Given the description of an element on the screen output the (x, y) to click on. 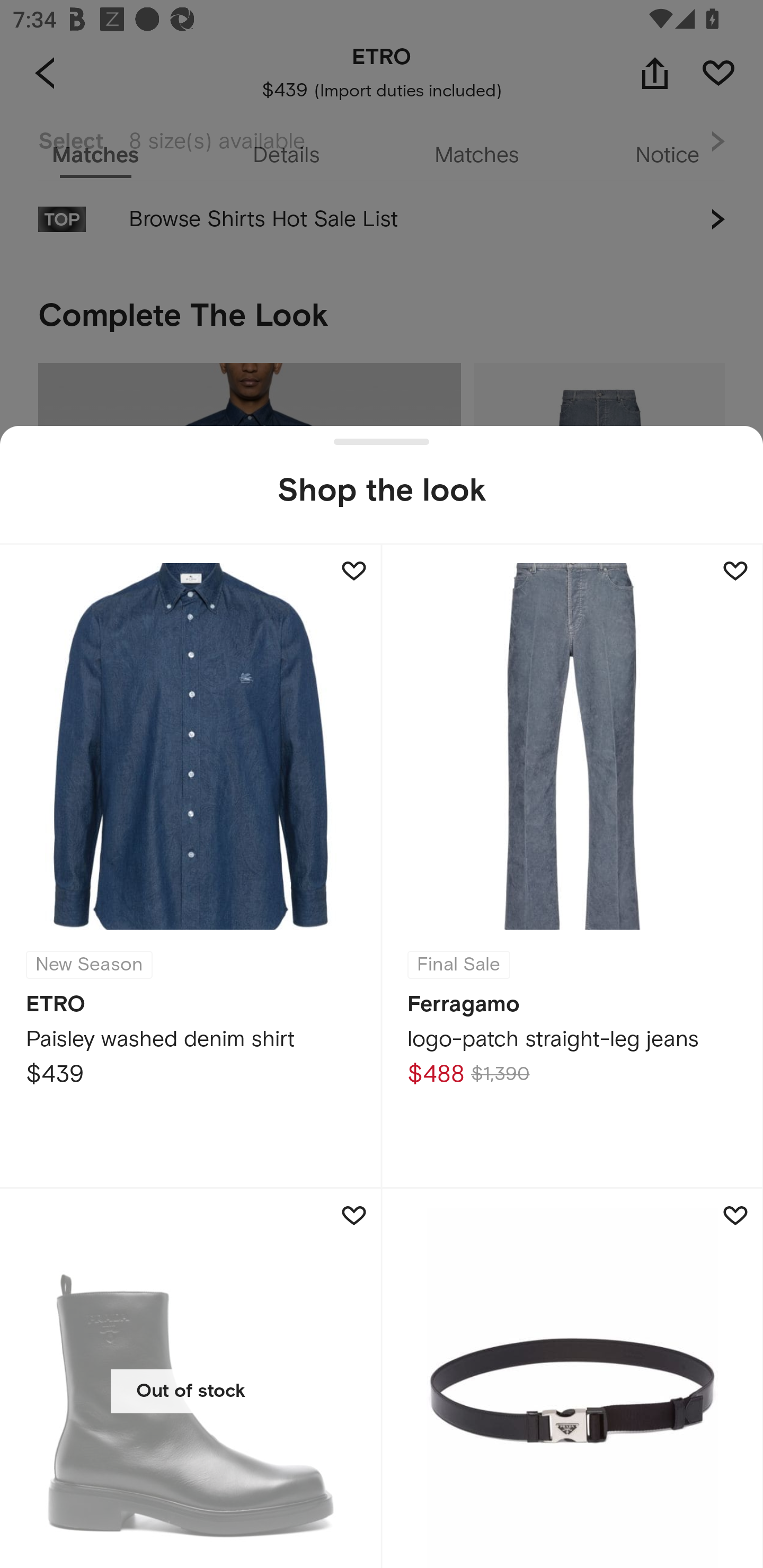
New Season ETRO Paisley washed denim shirt $439 (190, 865)
Out of stock (190, 1378)
